Given the description of an element on the screen output the (x, y) to click on. 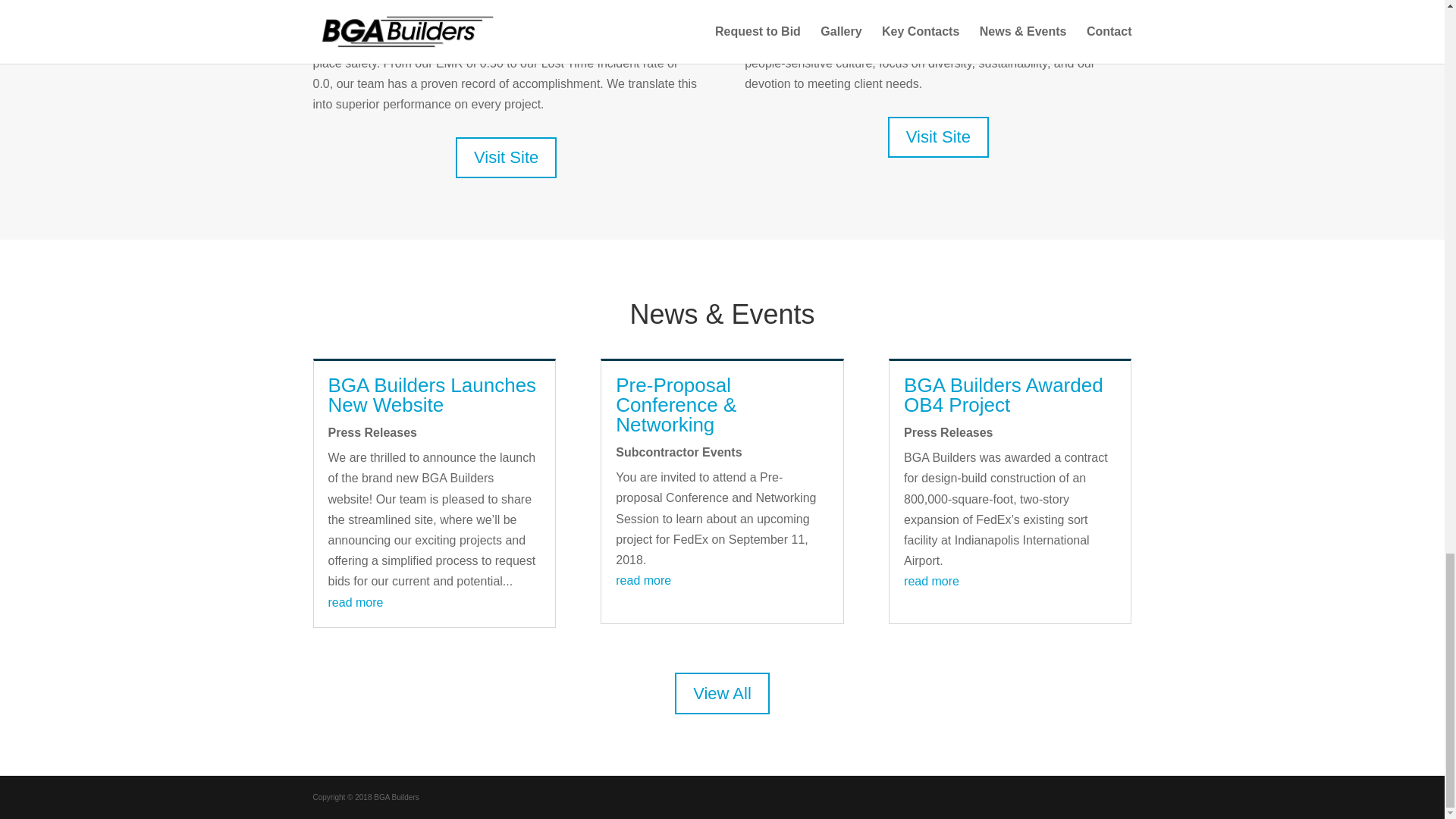
BGA Builders Awarded OB4 Project (1003, 394)
Subcontractor Events (678, 451)
Press Releases (371, 431)
Visit Site (938, 137)
BGA Builders Launches New Website (431, 394)
read more (354, 602)
read more (931, 581)
Visit Site (505, 158)
Press Releases (948, 431)
View All (722, 693)
read more (643, 580)
